Given the description of an element on the screen output the (x, y) to click on. 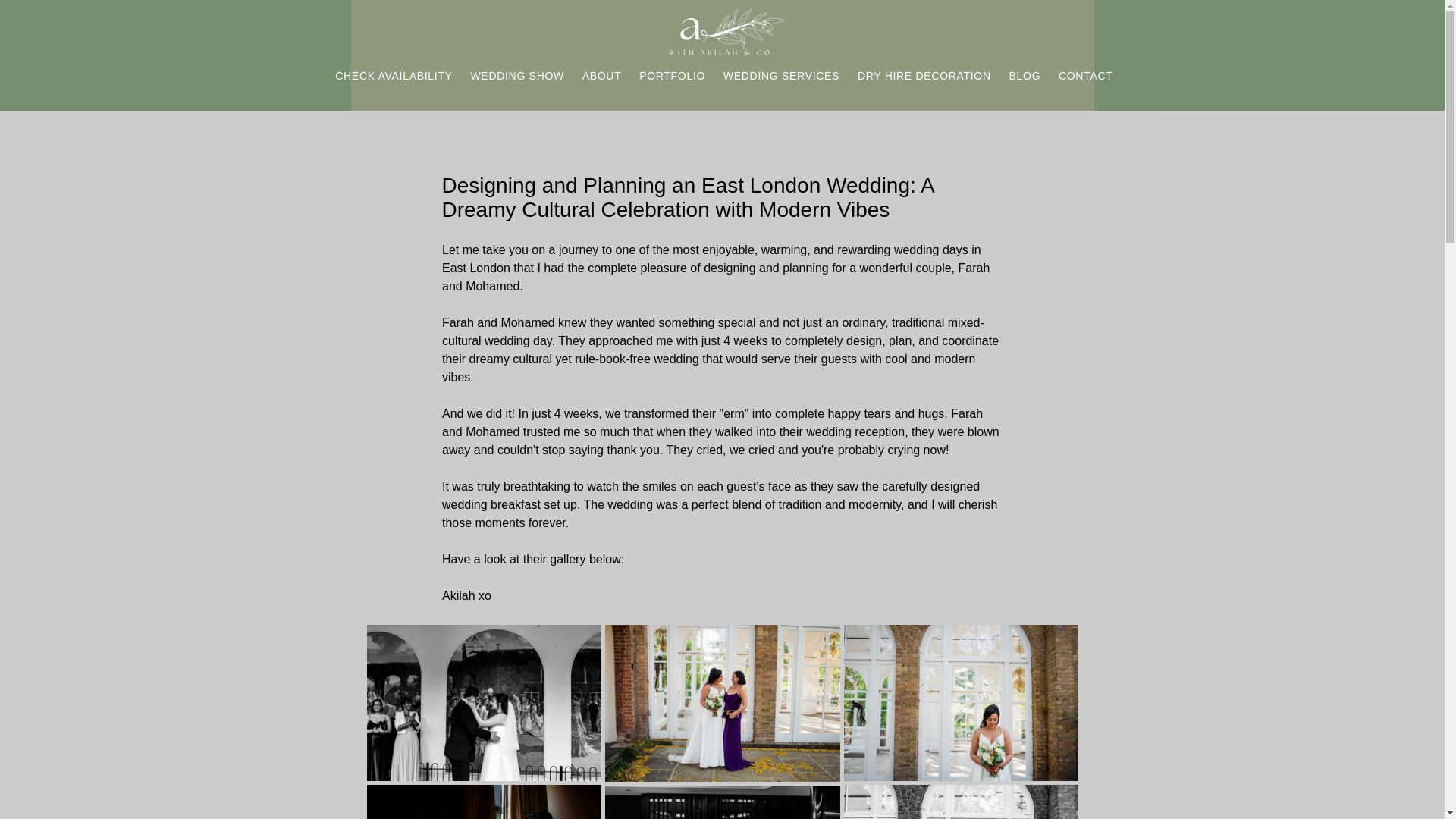
WEDDING SHOW (516, 75)
WEDDING SERVICES (780, 75)
DRY HIRE DECORATION (922, 75)
CHECK AVAILABILITY (392, 75)
CONTACT (1083, 75)
PORTFOLIO (670, 75)
